Given the description of an element on the screen output the (x, y) to click on. 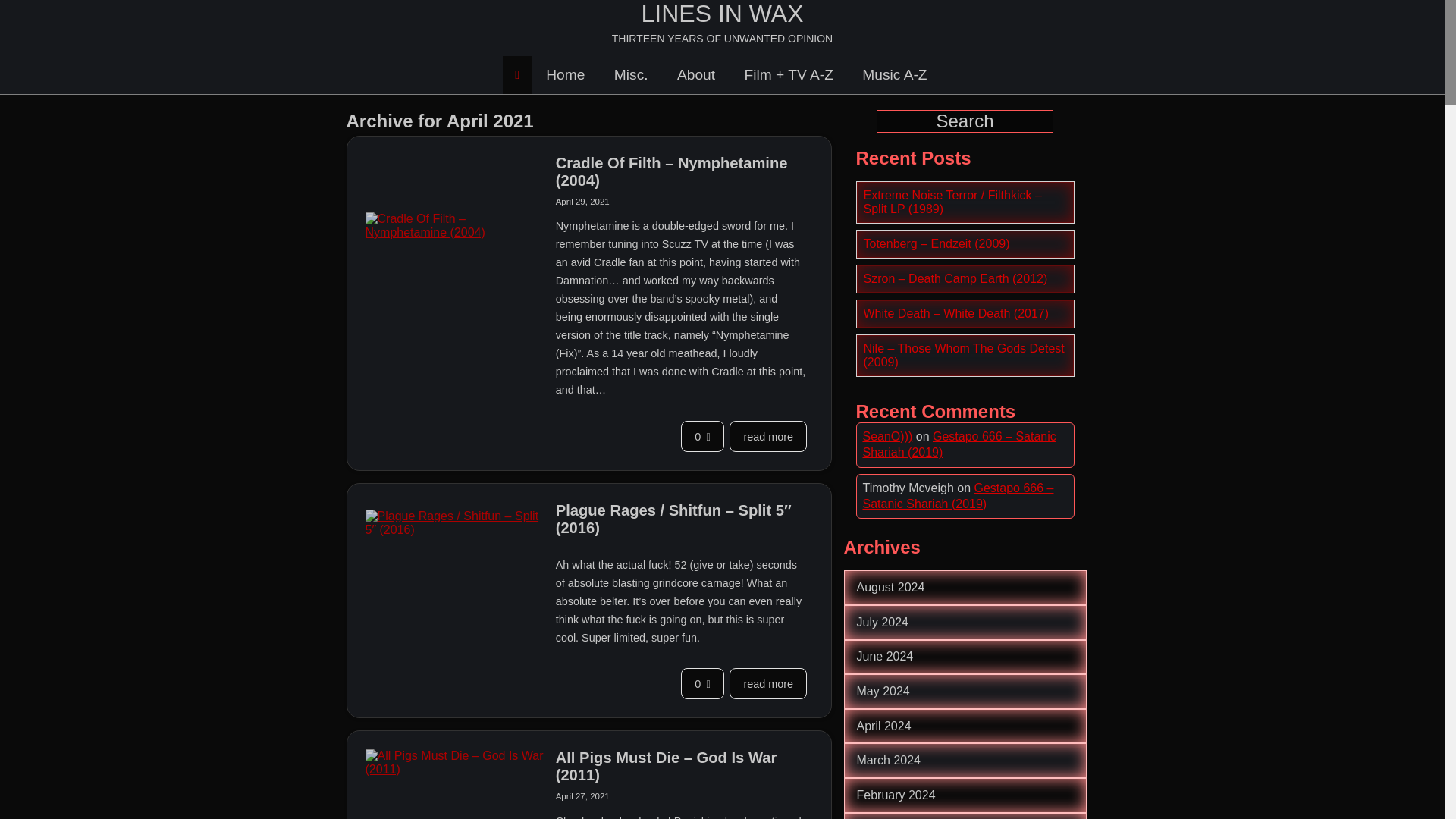
Misc. (630, 74)
Home (565, 74)
read more (767, 436)
read more (767, 683)
About (695, 74)
LINES IN WAX (721, 13)
Music A-Z (893, 74)
